Given the description of an element on the screen output the (x, y) to click on. 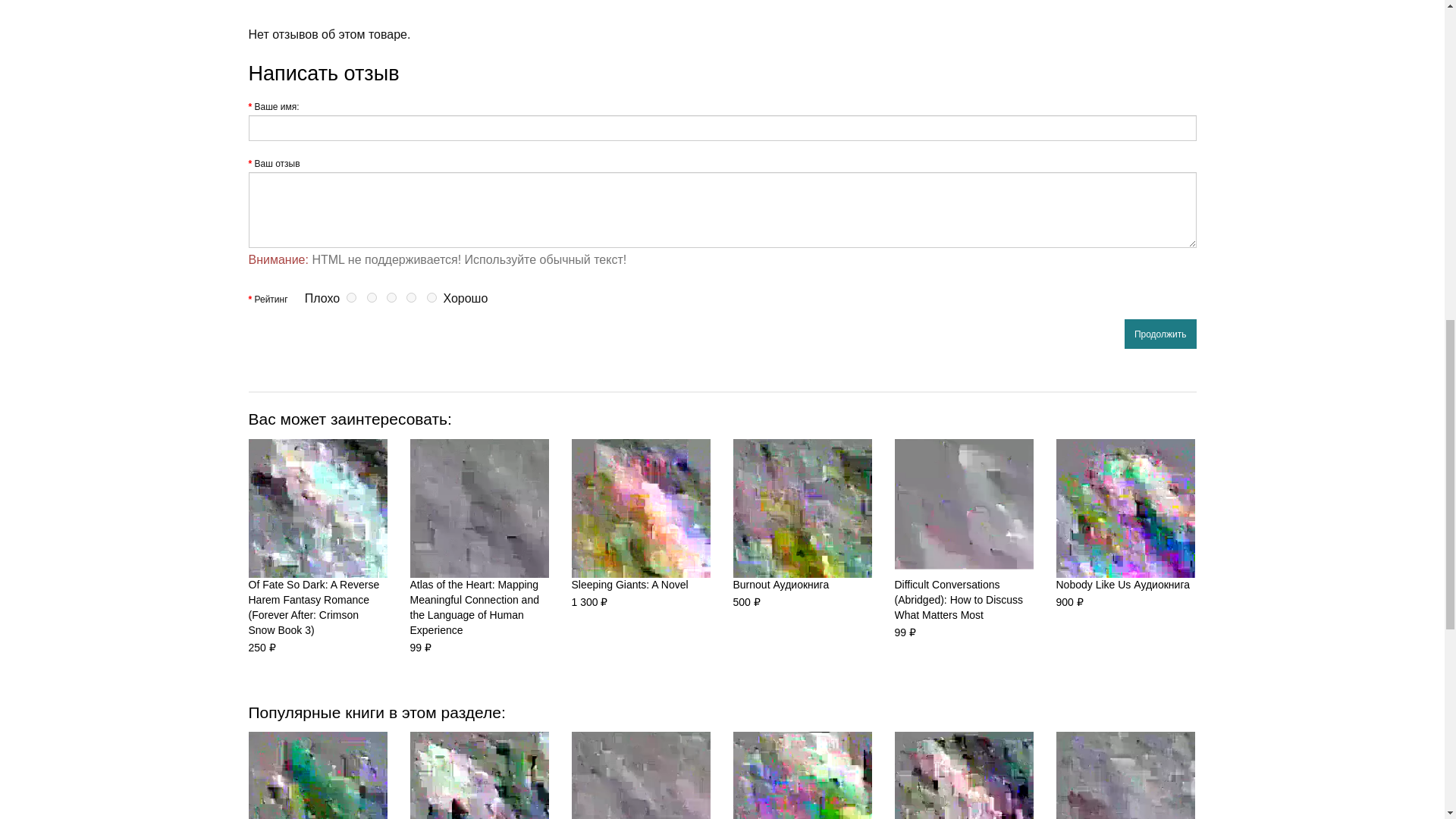
1 (351, 297)
3 (391, 297)
5 (431, 297)
2 (371, 297)
4 (411, 297)
Sleeping Giants: A Novel (641, 508)
